Given the description of an element on the screen output the (x, y) to click on. 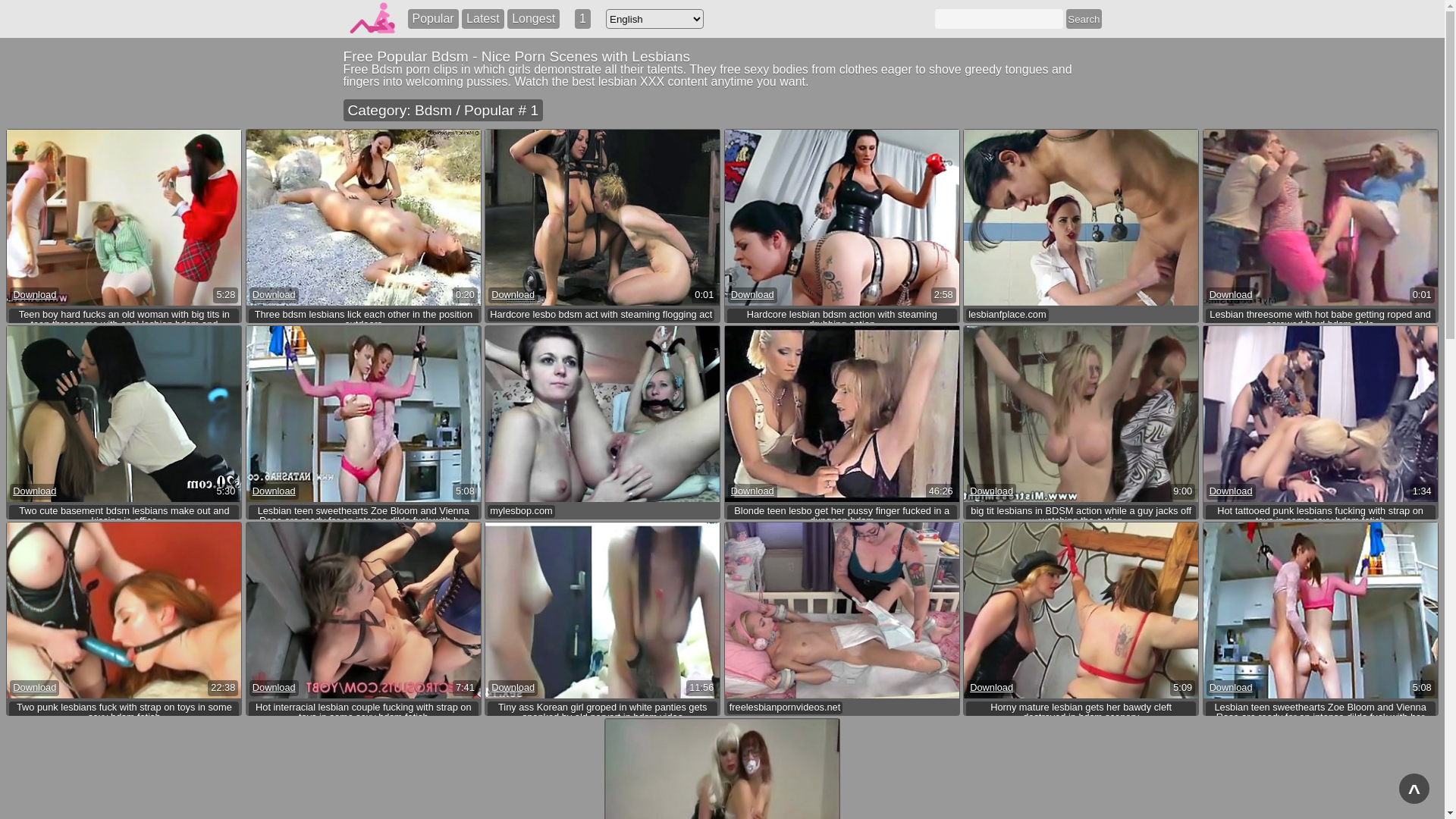
Latest Element type: text (482, 18)
Download Element type: text (34, 491)
Download Element type: text (1230, 688)
Longest Element type: text (533, 18)
1 Element type: text (582, 18)
Download Element type: text (34, 295)
freelesbianpornvideos.net Element type: text (785, 707)
Download Element type: text (273, 688)
Download Element type: text (512, 688)
Download Element type: text (512, 295)
Download Element type: text (752, 491)
Search Element type: text (1083, 18)
Lesbian Element type: text (537, 329)
Download Element type: text (991, 491)
Download Element type: text (34, 688)
Popular Latest Longest Element type: text (483, 18)
mylesbop.com Element type: text (521, 511)
Download Element type: text (991, 688)
Download Element type: text (273, 295)
^ Element type: text (1414, 788)
Bdsm Element type: text (502, 329)
lesbianfplace.com Element type: text (1007, 314)
Download Element type: text (273, 491)
Popular Element type: text (432, 18)
Download Element type: text (1230, 295)
Download Element type: text (752, 295)
Download Element type: text (1230, 491)
